Given the description of an element on the screen output the (x, y) to click on. 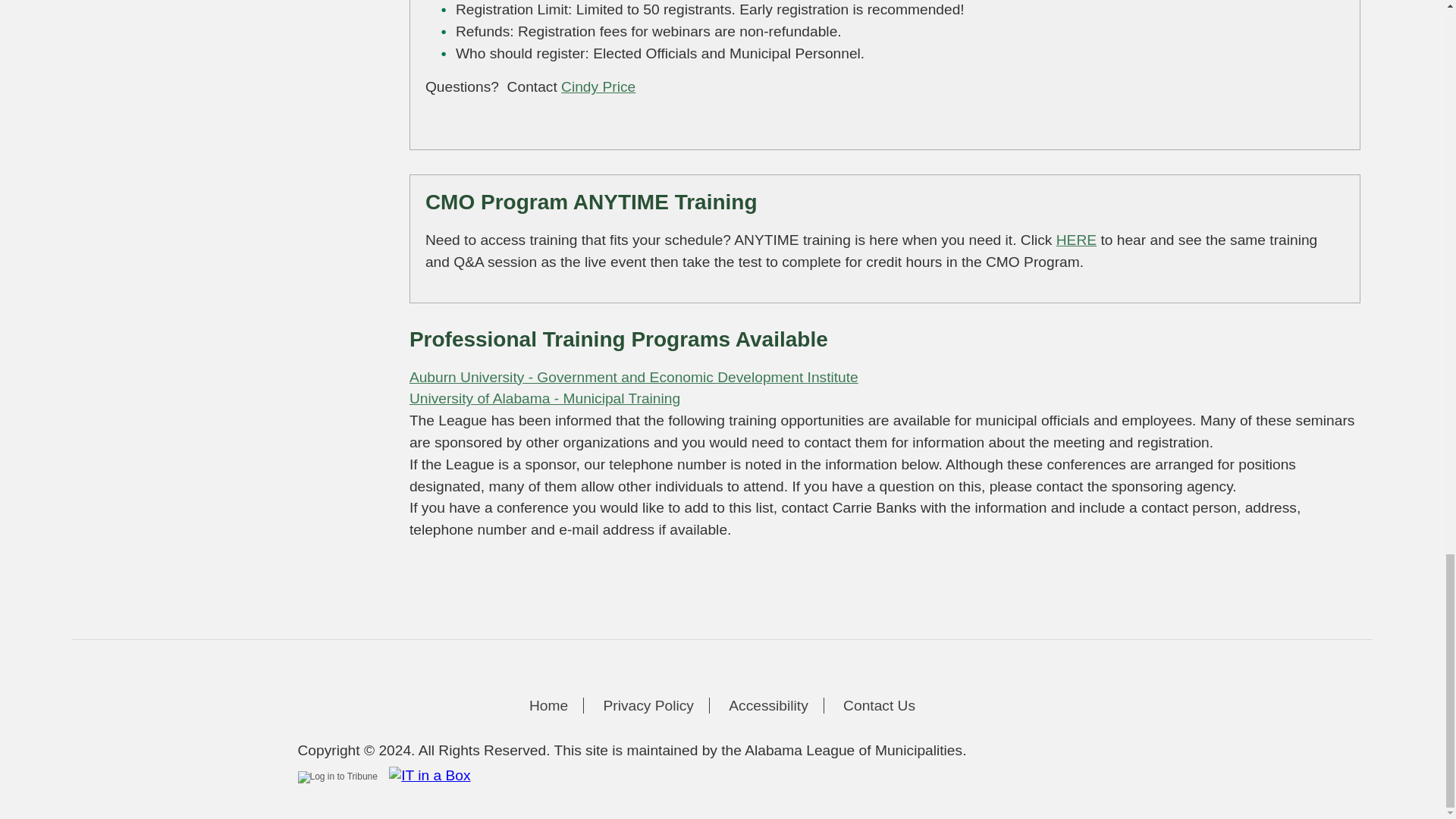
Log in to Tribune (337, 776)
IT in a Box (425, 774)
